Given the description of an element on the screen output the (x, y) to click on. 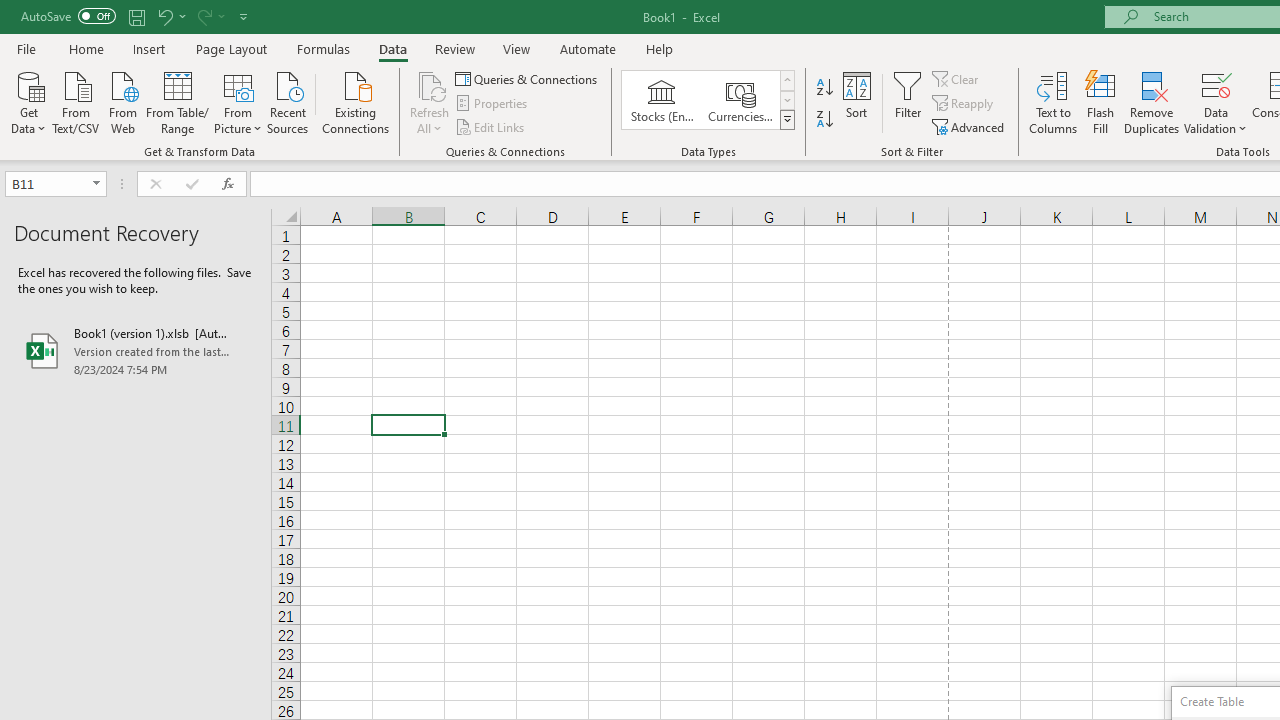
Text to Columns... (1053, 102)
From Table/Range (177, 101)
Sort... (856, 102)
Clear (957, 78)
